Given the description of an element on the screen output the (x, y) to click on. 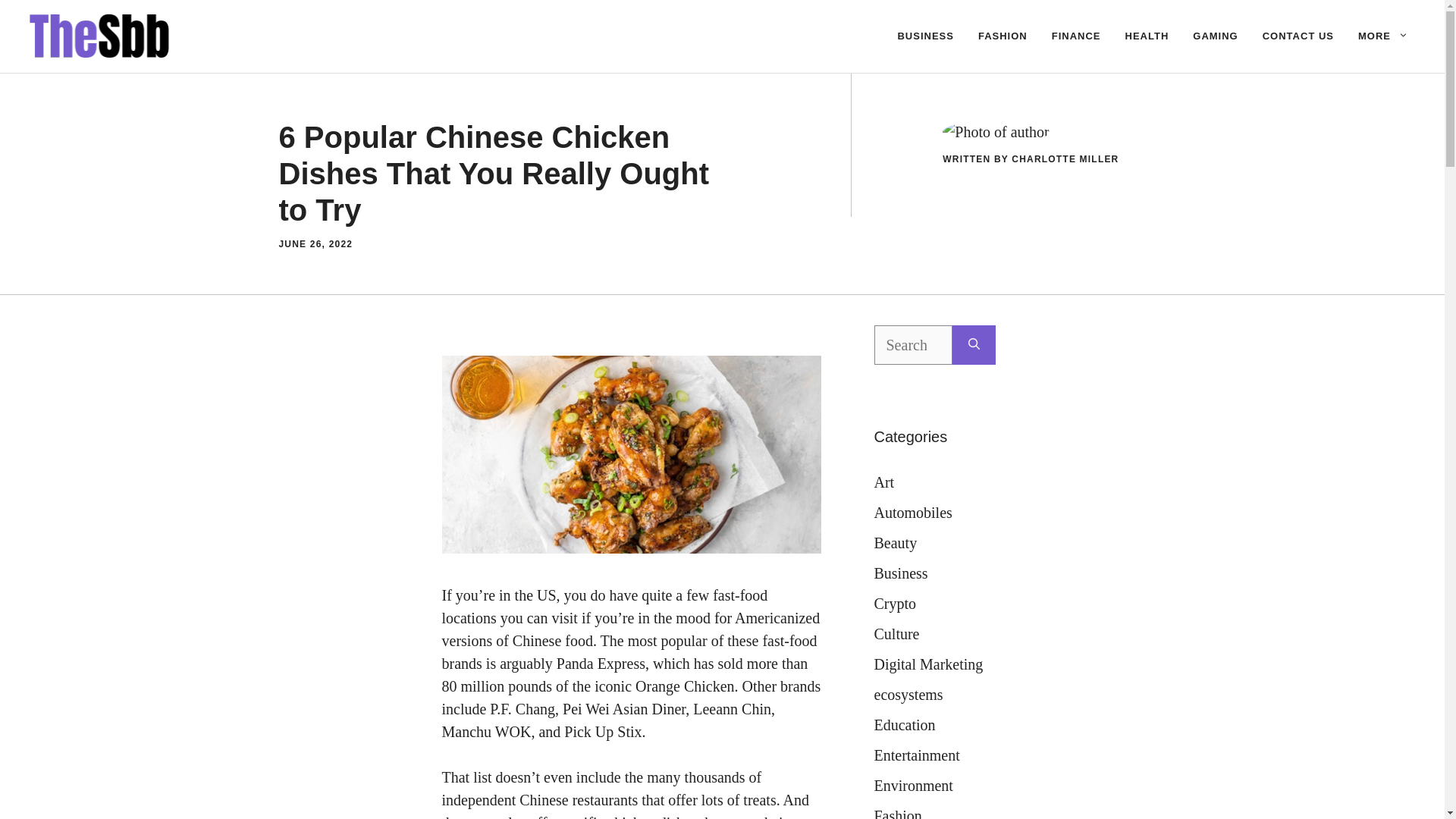
FASHION (1002, 35)
HEALTH (1146, 35)
FINANCE (1076, 35)
Search for: (912, 344)
Art (883, 482)
GAMING (1214, 35)
MORE (1383, 35)
CONTACT US (1297, 35)
BUSINESS (925, 35)
